Given the description of an element on the screen output the (x, y) to click on. 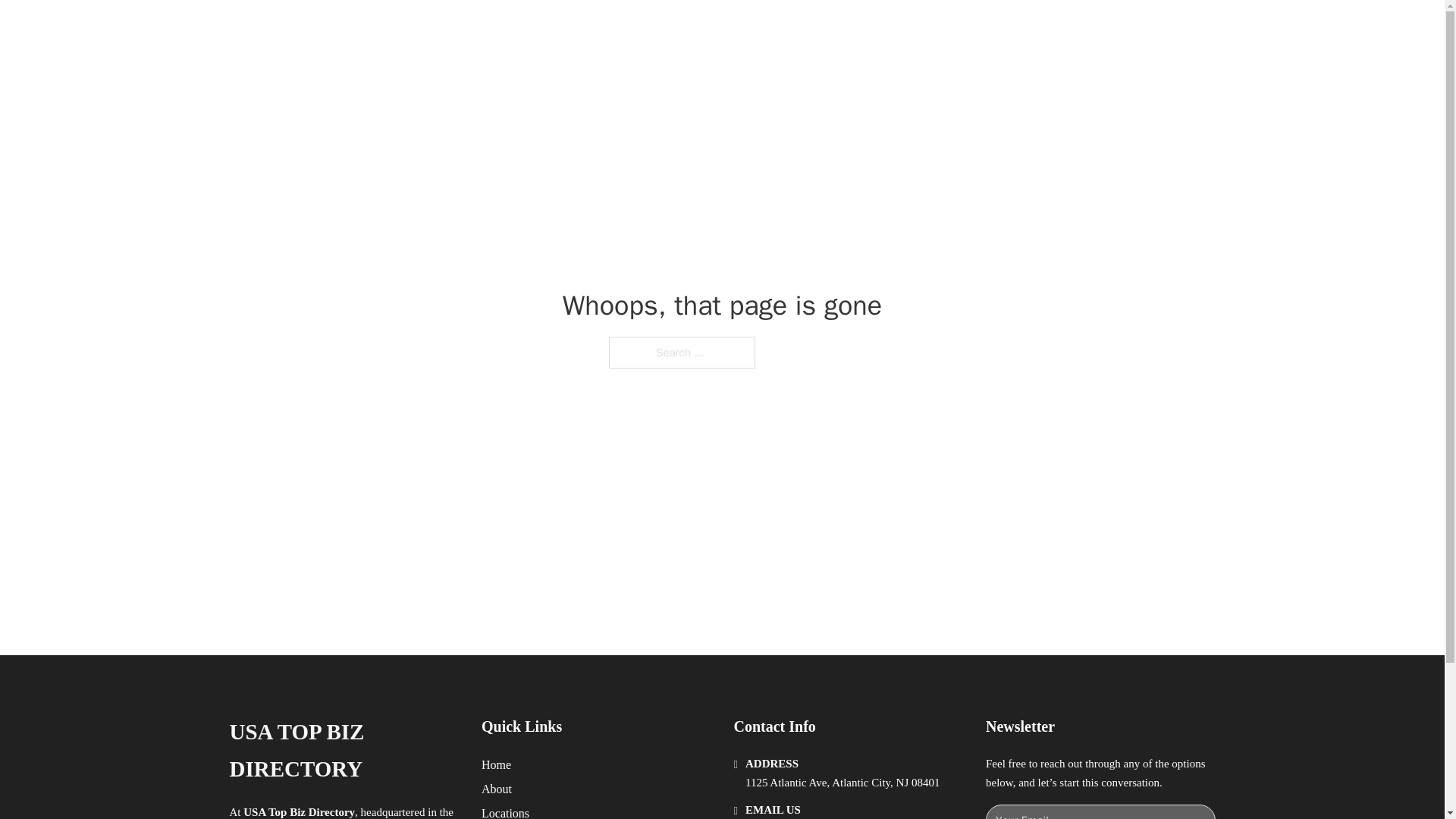
About (496, 788)
Locations (505, 811)
USA TOP BIZ DIRECTORY (343, 750)
USA TOP BIZ DIRECTORY (431, 28)
LOCATIONS (990, 29)
Home (496, 764)
HOME (919, 29)
